Given the description of an element on the screen output the (x, y) to click on. 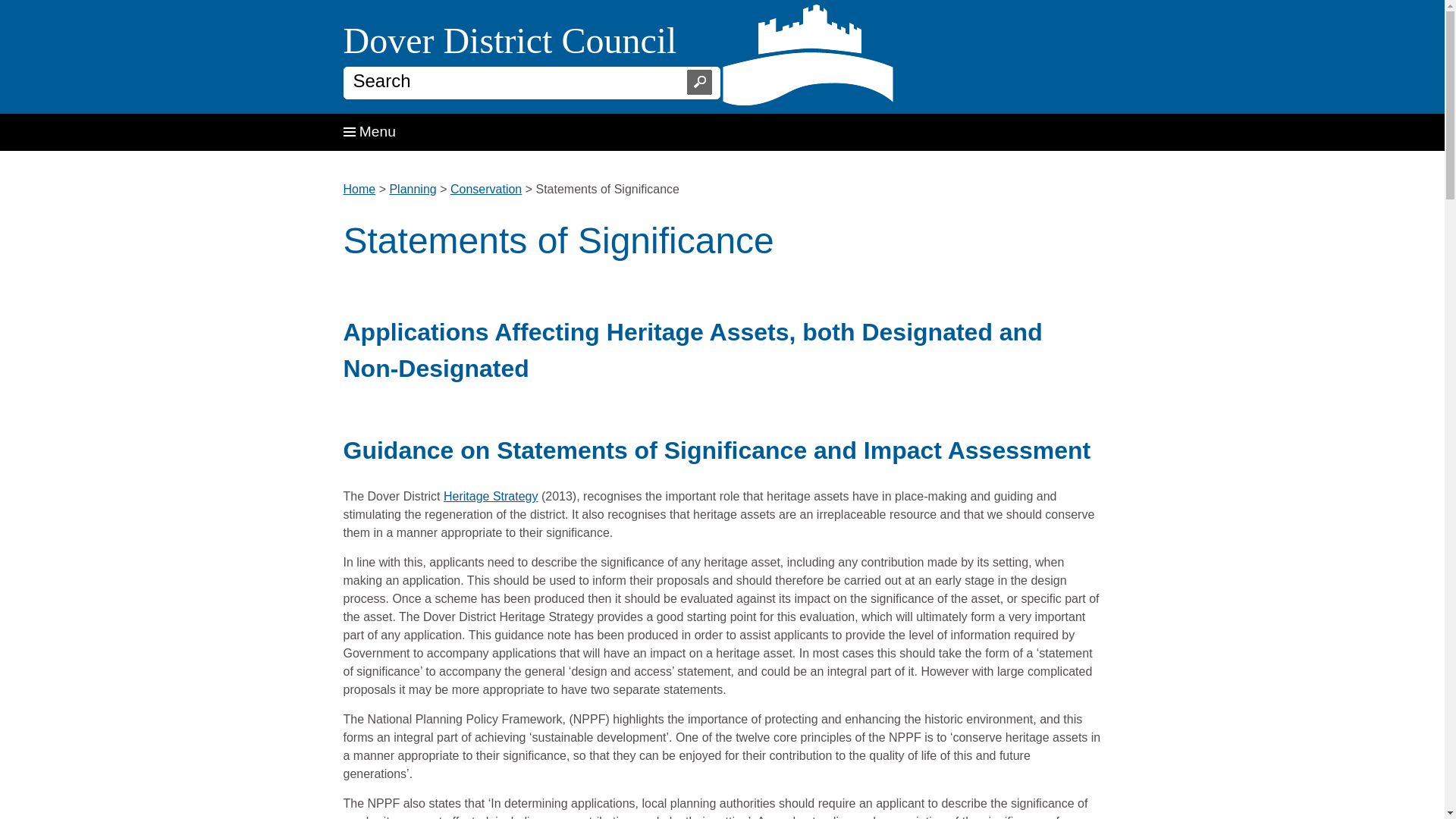
Search (696, 82)
Menu (368, 131)
Search (505, 80)
Search (696, 82)
Search (505, 80)
Search (696, 82)
Search (696, 82)
